Given the description of an element on the screen output the (x, y) to click on. 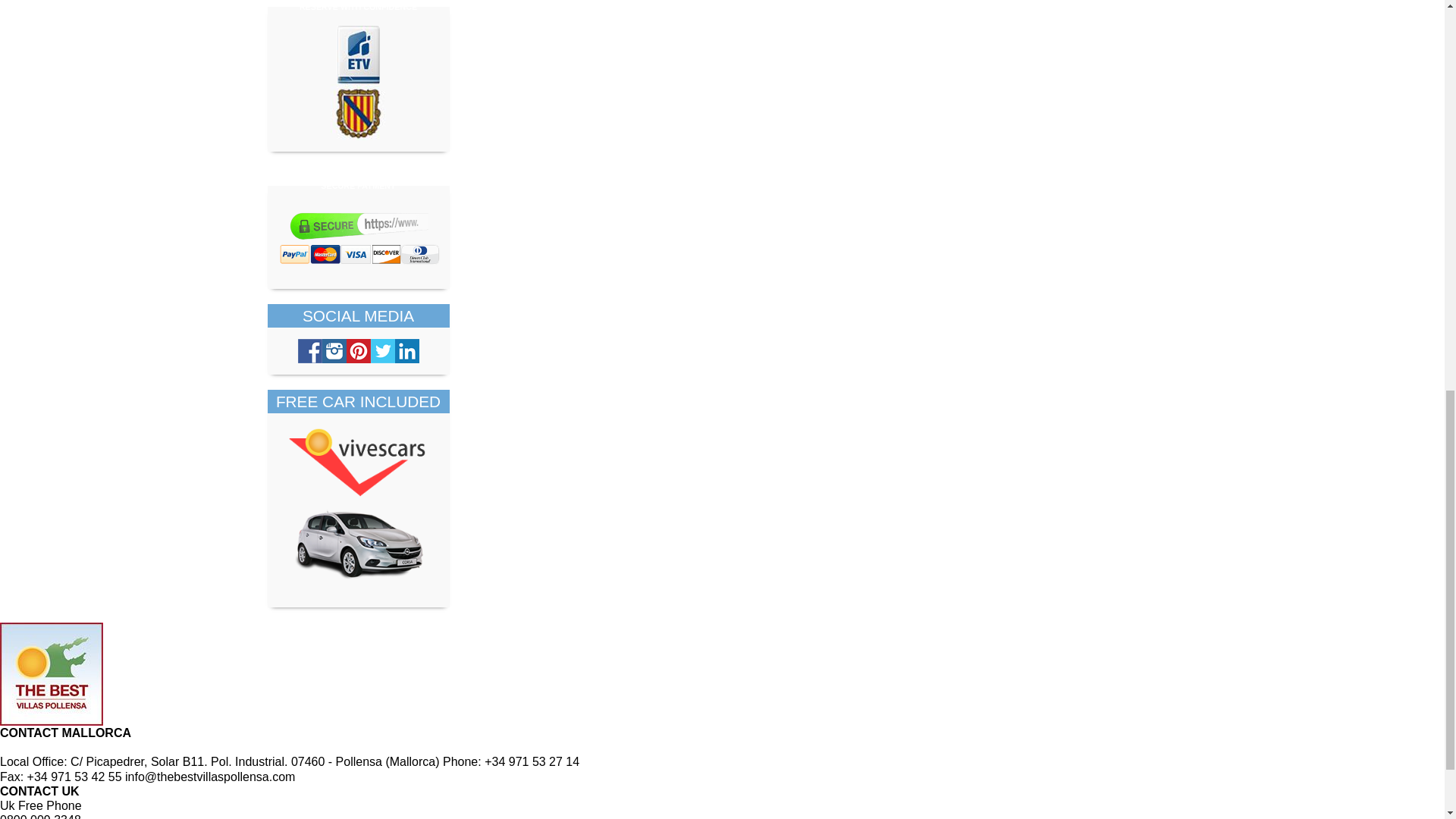
Follow on instagram (333, 351)
Follow on facebook (309, 351)
